Given the description of an element on the screen output the (x, y) to click on. 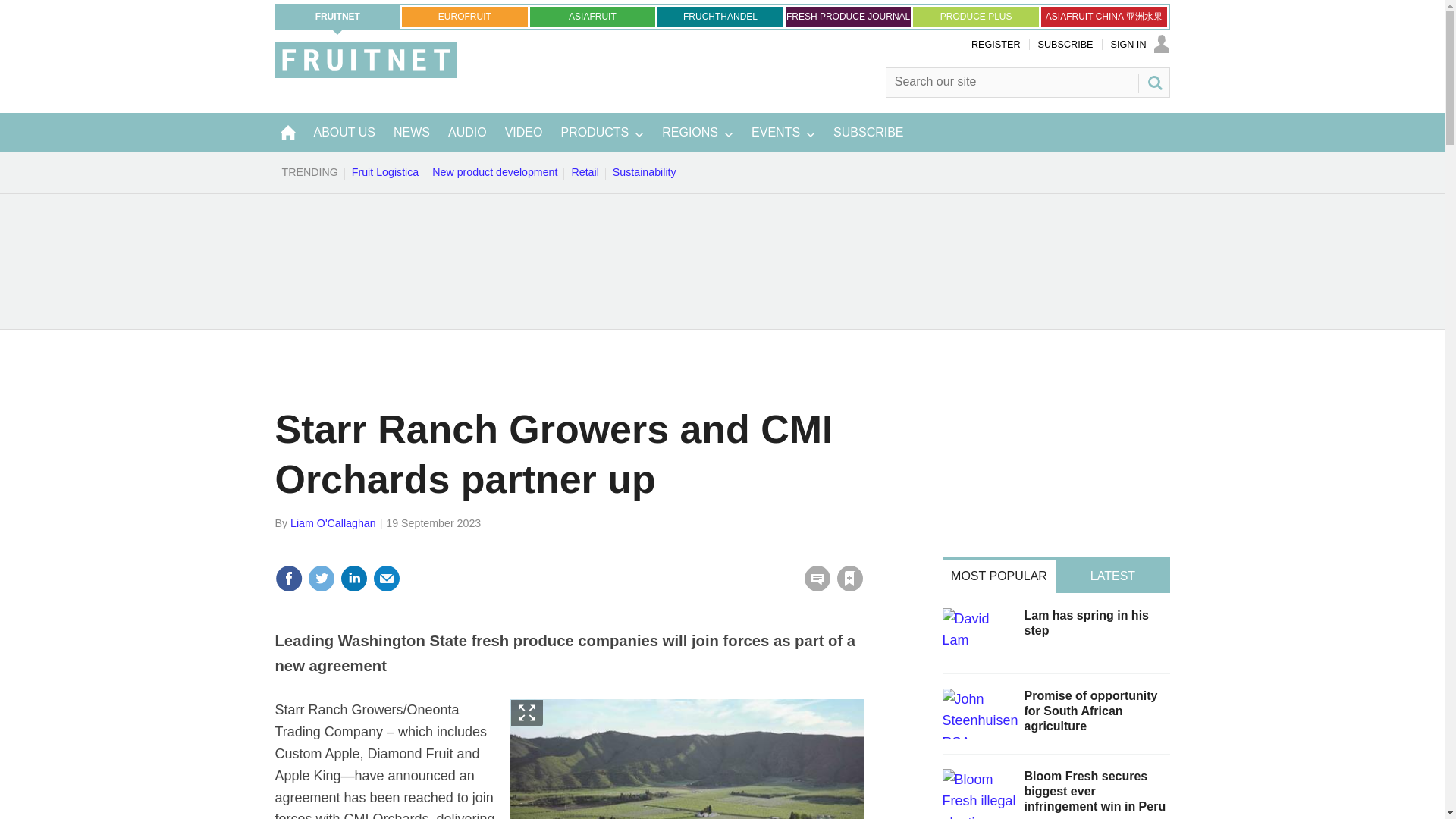
Sustainability (643, 172)
Site name (366, 73)
No comments (812, 587)
New product development (494, 172)
FRUCHTHANDEL (720, 16)
PRODUCE PLUS (975, 16)
SUBSCRIBE (1065, 44)
Email this article (386, 578)
SEARCH (1153, 82)
REGISTER (995, 44)
Fruit Logistica (385, 172)
EUROFRUIT (464, 16)
Share this on Twitter (320, 578)
Share this on Facebook (288, 578)
Retail (584, 172)
